Given the description of an element on the screen output the (x, y) to click on. 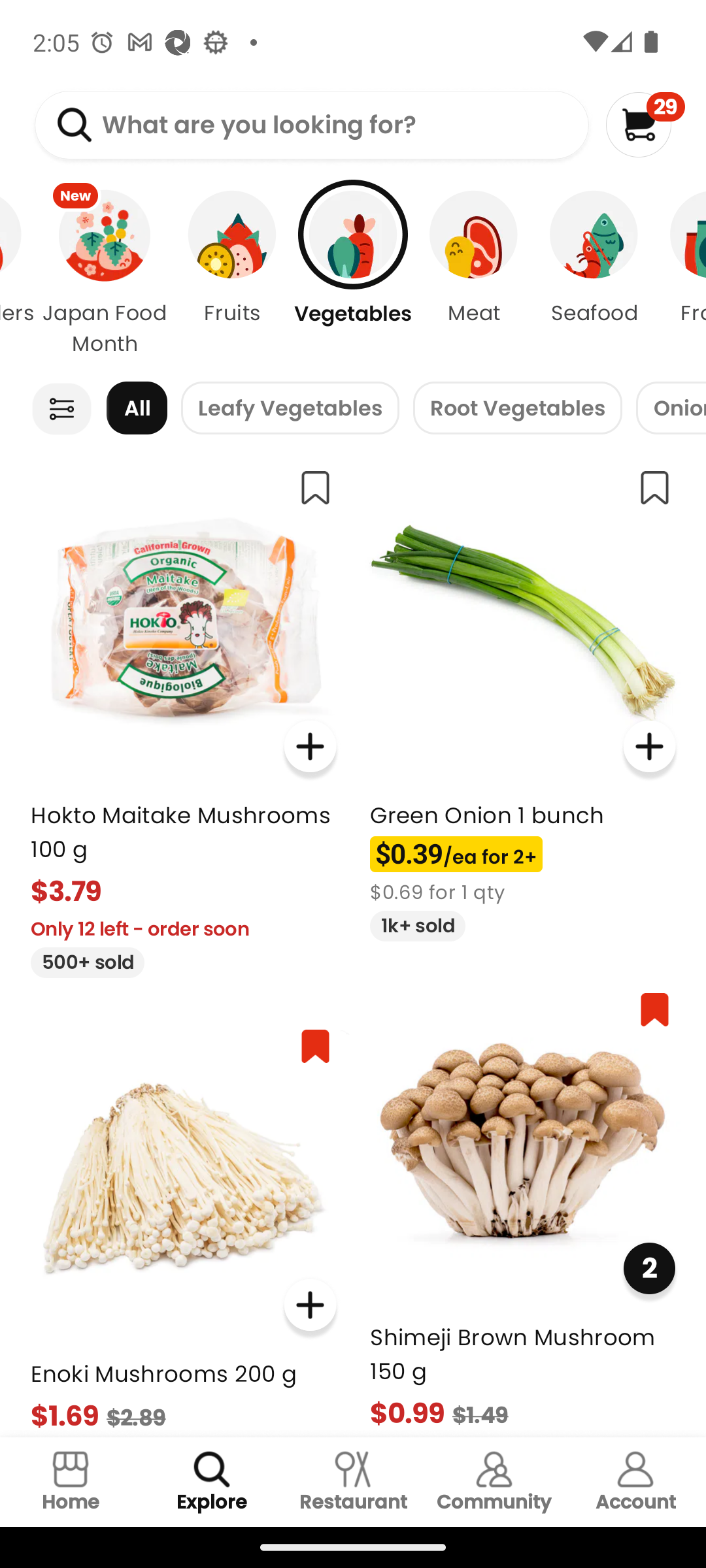
What are you looking for? (311, 124)
29 (644, 124)
New Japan Food Month (105, 274)
Fruits (232, 274)
Vegetables (352, 274)
Meat (473, 274)
Seafood (593, 274)
All (136, 407)
Leafy Vegetables (289, 407)
Root Vegetables (517, 407)
Onions & Shallots (671, 407)
2 Shimeji Brown Mushroom 150 g $0.99 $1.49 (522, 1206)
Enoki Mushrooms 200 g $1.69 $2.89 (182, 1224)
2 (648, 1267)
Home (70, 1482)
Explore (211, 1482)
Restaurant (352, 1482)
Community (493, 1482)
Account (635, 1482)
